Given the description of an element on the screen output the (x, y) to click on. 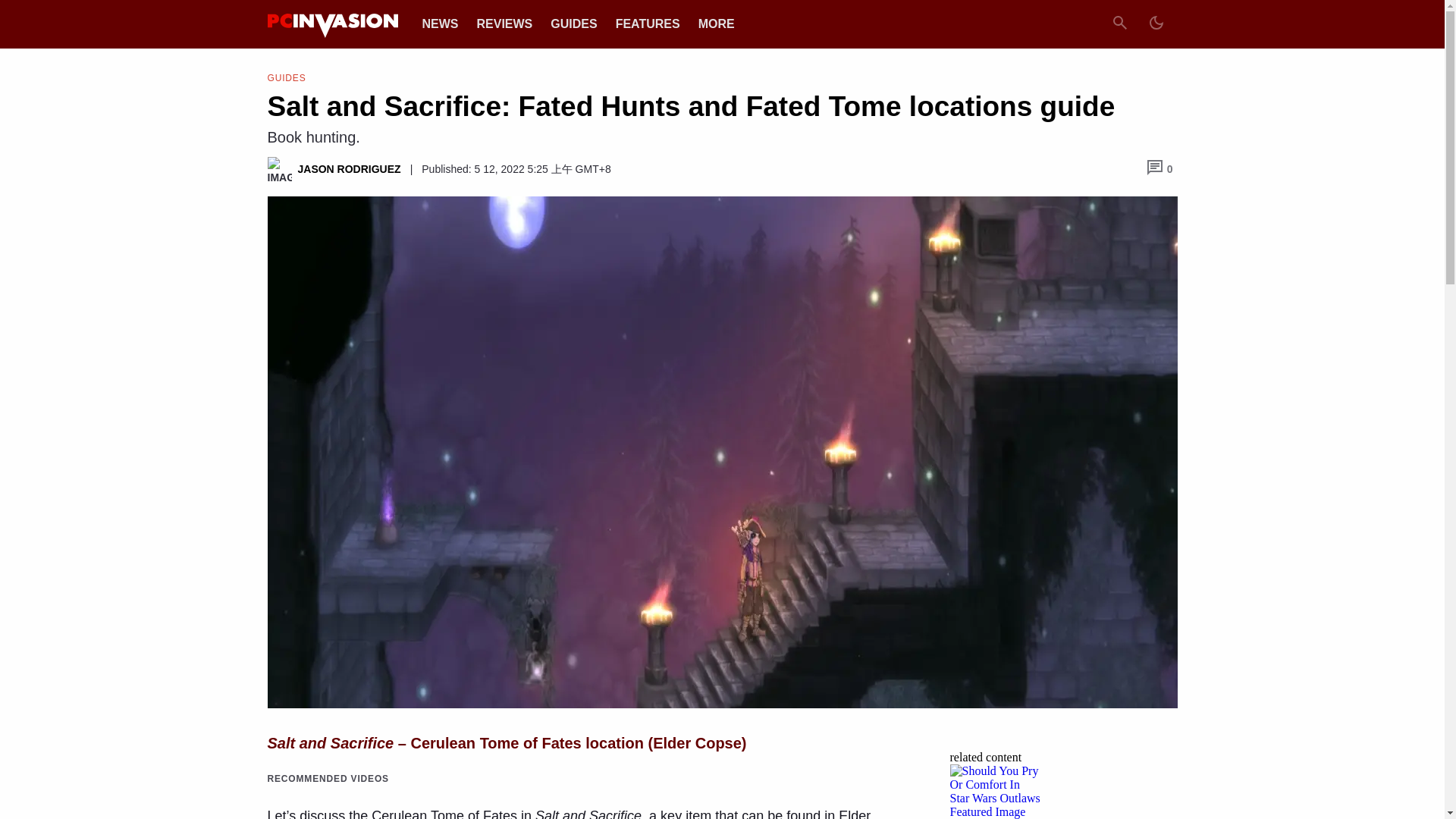
GUIDES (573, 23)
REVIEWS (504, 23)
NEWS (440, 23)
Dark Mode (1155, 23)
FEATURES (647, 23)
Search (1118, 23)
